Given the description of an element on the screen output the (x, y) to click on. 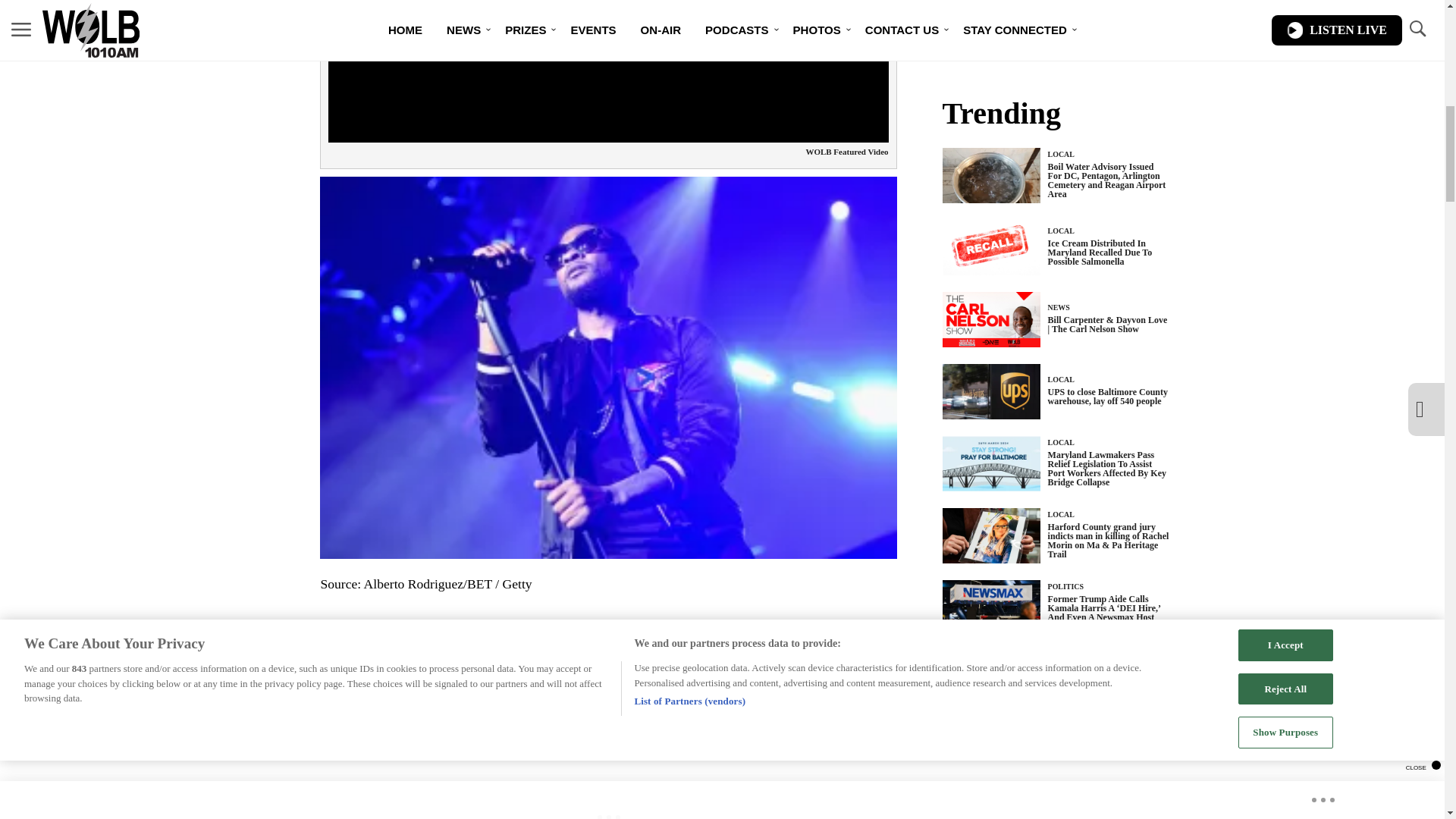
Usher Raymond (542, 645)
